Given the description of an element on the screen output the (x, y) to click on. 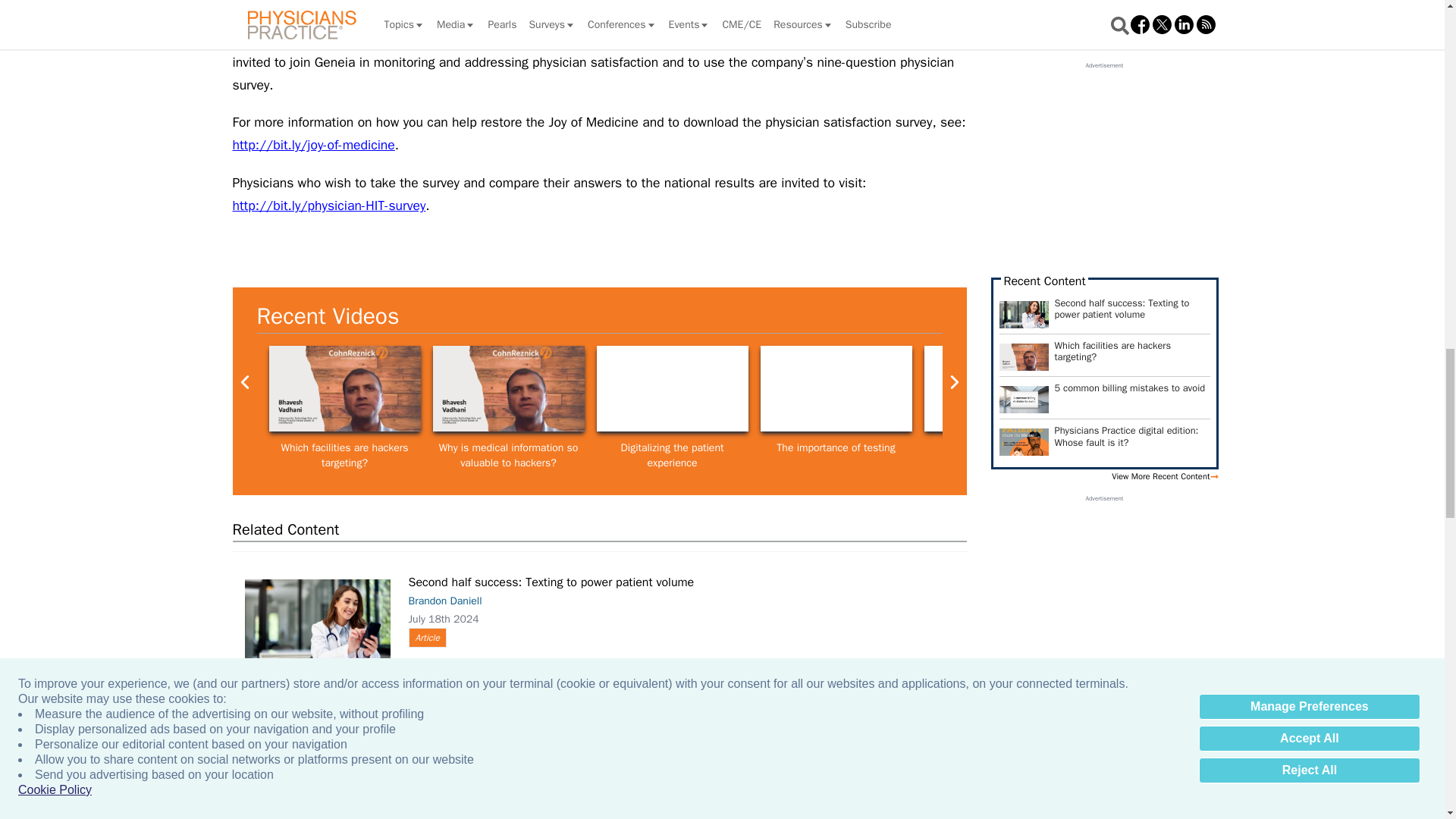
Bhavesh Vadhani (507, 388)
Bhavesh Vadhani (343, 388)
The fear of inflation and recession (999, 388)
Protecting your practice (1163, 388)
Protecting your home, business while on vacation (1326, 388)
The importance of vaccination (835, 388)
